Given the description of an element on the screen output the (x, y) to click on. 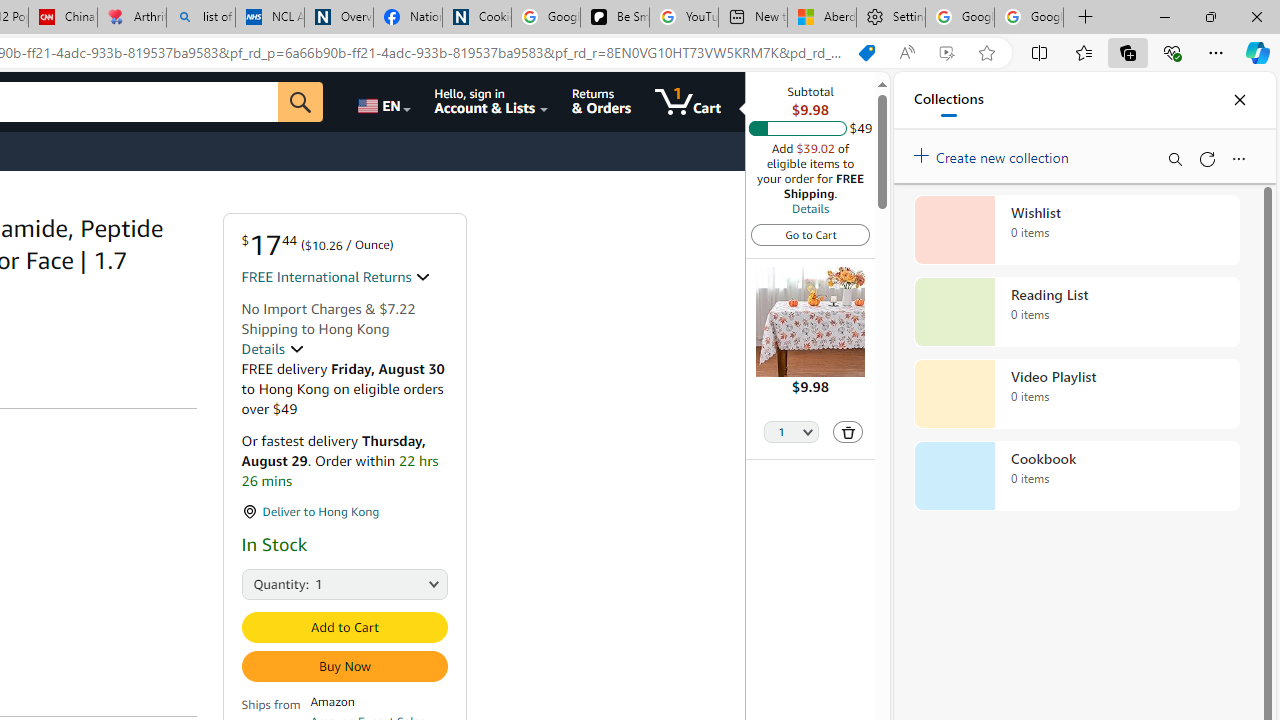
Collections (948, 99)
Reading List collection, 0 items (1076, 312)
Buy Now (343, 666)
Delete (847, 431)
Enhance video (946, 53)
Create new collection (994, 153)
Favorites (1083, 52)
Copilot (Ctrl+Shift+.) (1258, 52)
